Given the description of an element on the screen output the (x, y) to click on. 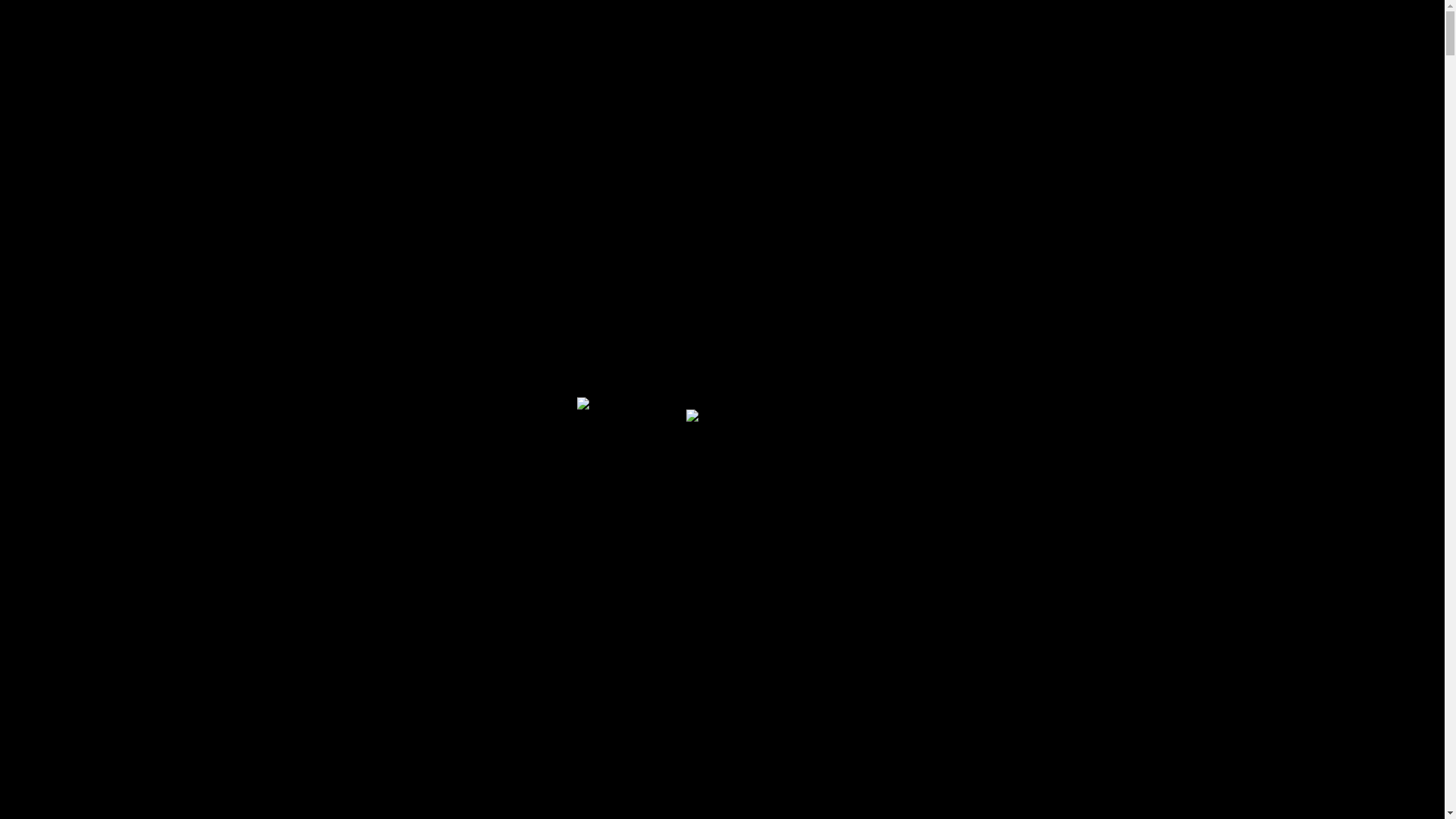
E-mail Element type: text (83, 65)
Bulk Order Enquiry Element type: text (85, 132)
Blog Element type: text (753, 373)
Contact Us Element type: text (901, 373)
Location Element type: text (88, 47)
HYDROMINO Element type: text (383, 515)
TURBOKLONE Element type: text (385, 563)
DOCTOR DANK Element type: text (388, 442)
CANNA Element type: text (369, 406)
Search Element type: text (42, 395)
Search Element type: text (42, 640)
MEDTEK Element type: text (371, 539)
Brands Element type: text (346, 373)
Login / Register Element type: text (77, 417)
$0.00 Element type: text (52, 441)
E-mail Element type: text (83, 190)
GROWTH TECHNOLOGY Element type: text (410, 478)
DEVILS HARVEST Element type: text (392, 430)
ROCK NUTRIENTS Element type: text (393, 551)
Best Sellers Element type: text (602, 373)
MAX FAN Element type: text (374, 527)
Products Element type: text (199, 373)
Hydro Kingdom - Hydroponic Supplies Adelaide Element type: hover (126, 294)
ANARCHY Element type: text (375, 393)
08 7226 1766 Element type: text (107, 207)
Check It Out Element type: text (722, 730)
HI-PAR Element type: text (366, 503)
Home Element type: text (57, 373)
Track Order Element type: text (67, 245)
CYCO Element type: text (365, 418)
HOUSE AND GARDEN Element type: text (403, 490)
08 7226 1766 Element type: text (107, 82)
Location Element type: text (88, 172)
FLORAMAX Element type: text (379, 466)
Skip to content Element type: text (44, 12)
Bulk Order Enquiry Element type: text (85, 233)
Track Order Element type: text (67, 144)
FLAIR FORM Element type: text (381, 454)
